Given the description of an element on the screen output the (x, y) to click on. 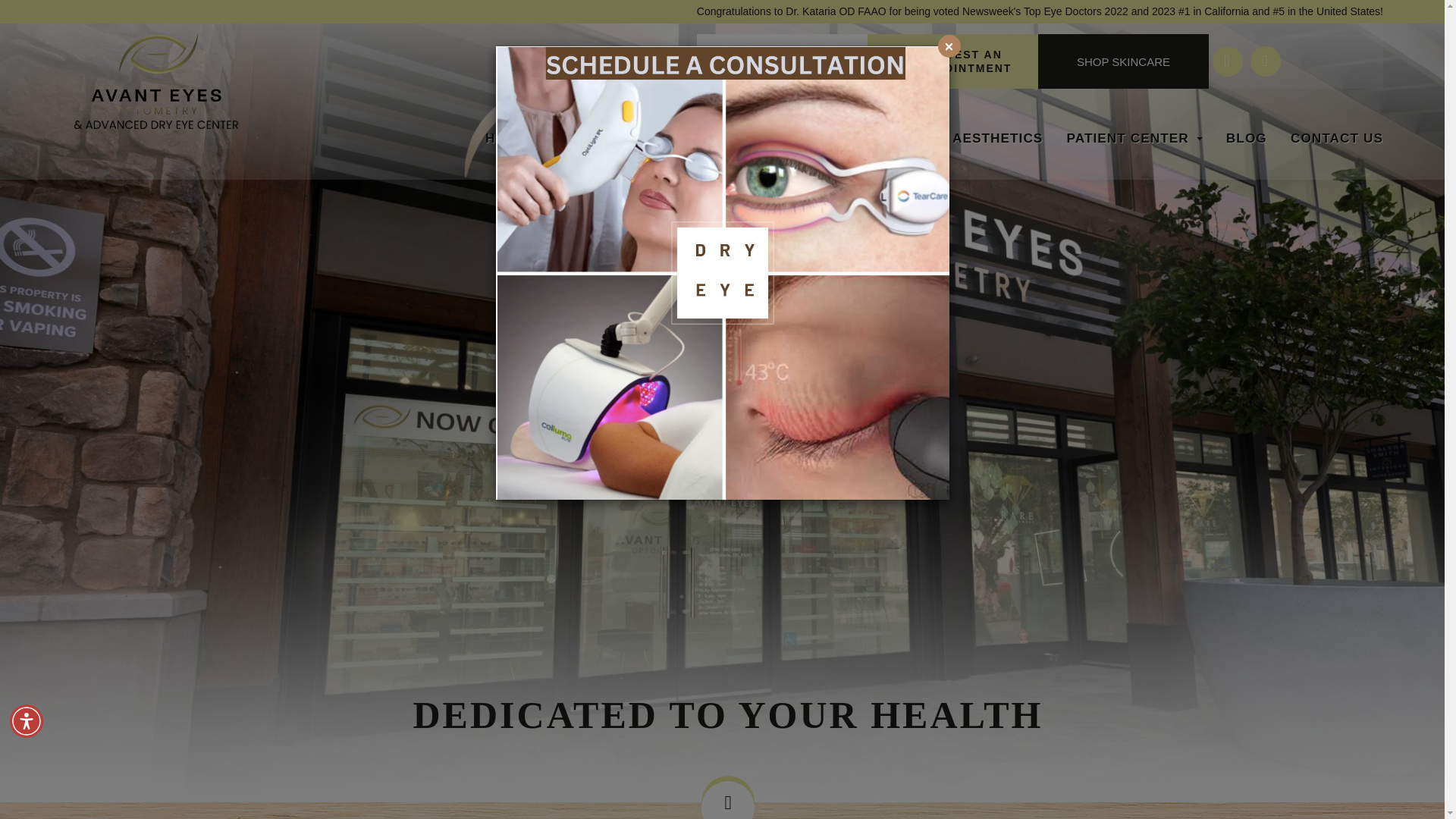
Accessibility Menu (26, 720)
